Given the description of an element on the screen output the (x, y) to click on. 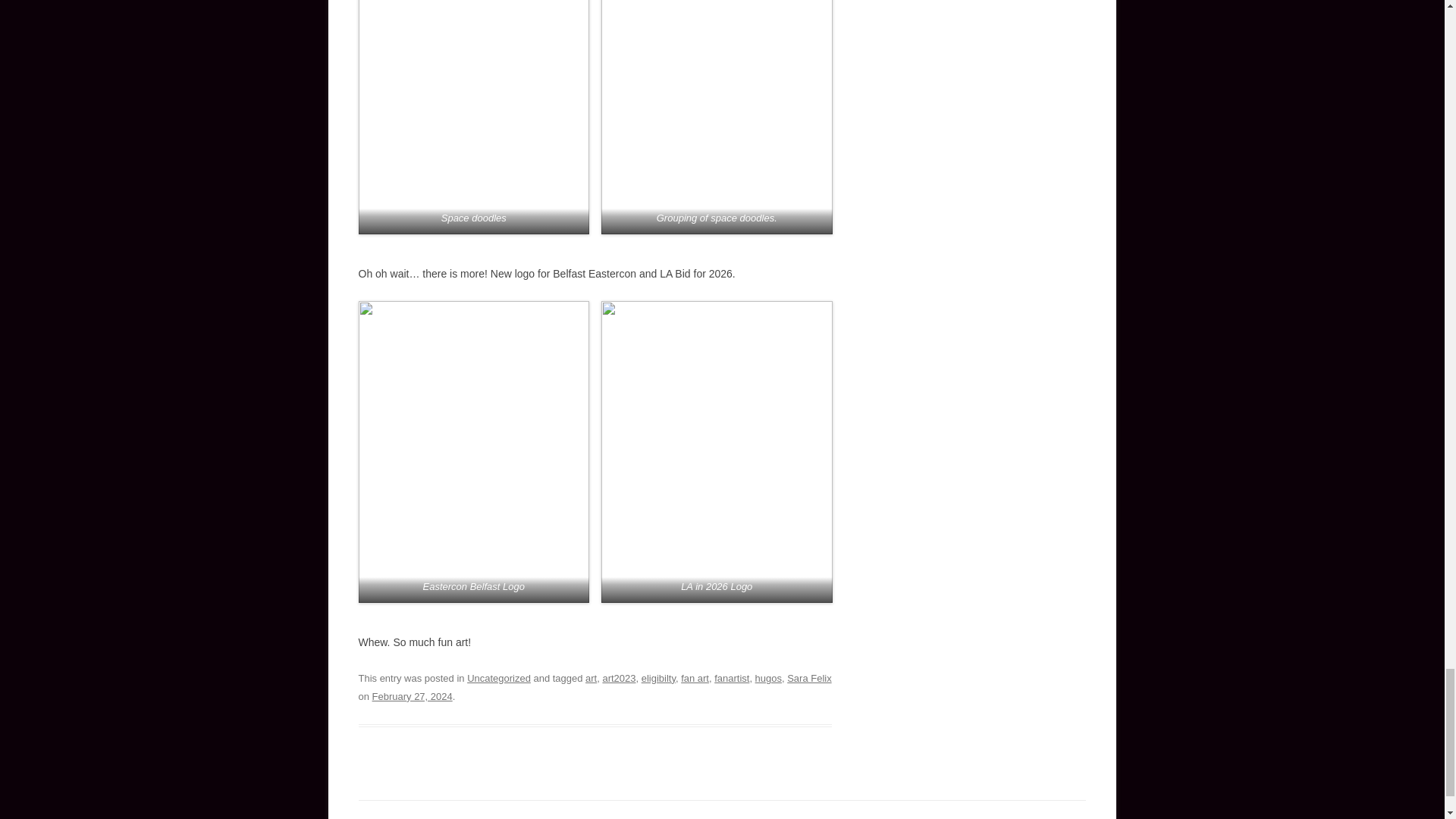
fan art (695, 677)
5:10 pm (412, 696)
art (590, 677)
Uncategorized (499, 677)
eligibilty (658, 677)
art2023 (618, 677)
